Given the description of an element on the screen output the (x, y) to click on. 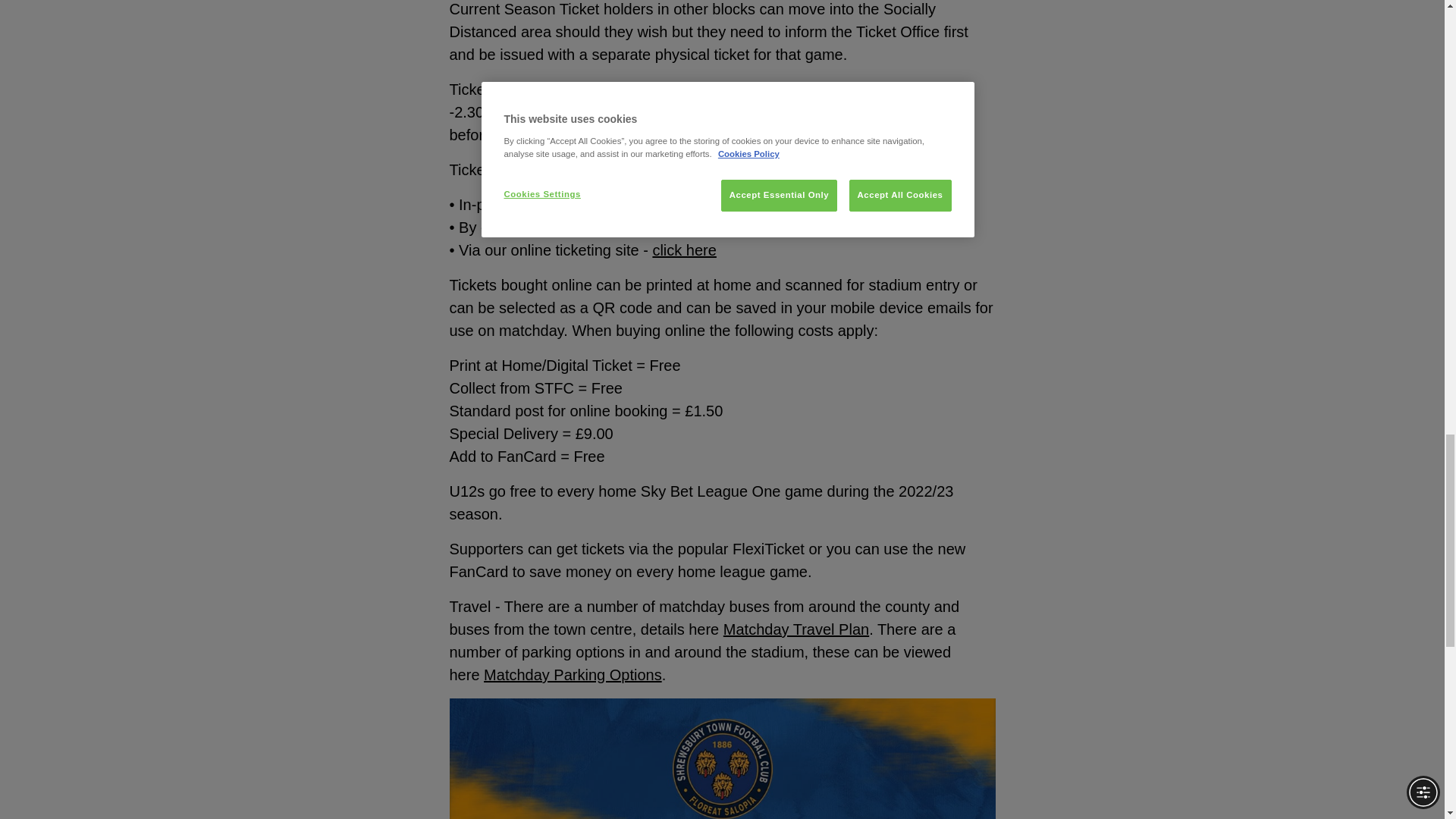
Matchday Parking Options (572, 674)
Matchday Travel Plan (796, 629)
click here (684, 249)
